Given the description of an element on the screen output the (x, y) to click on. 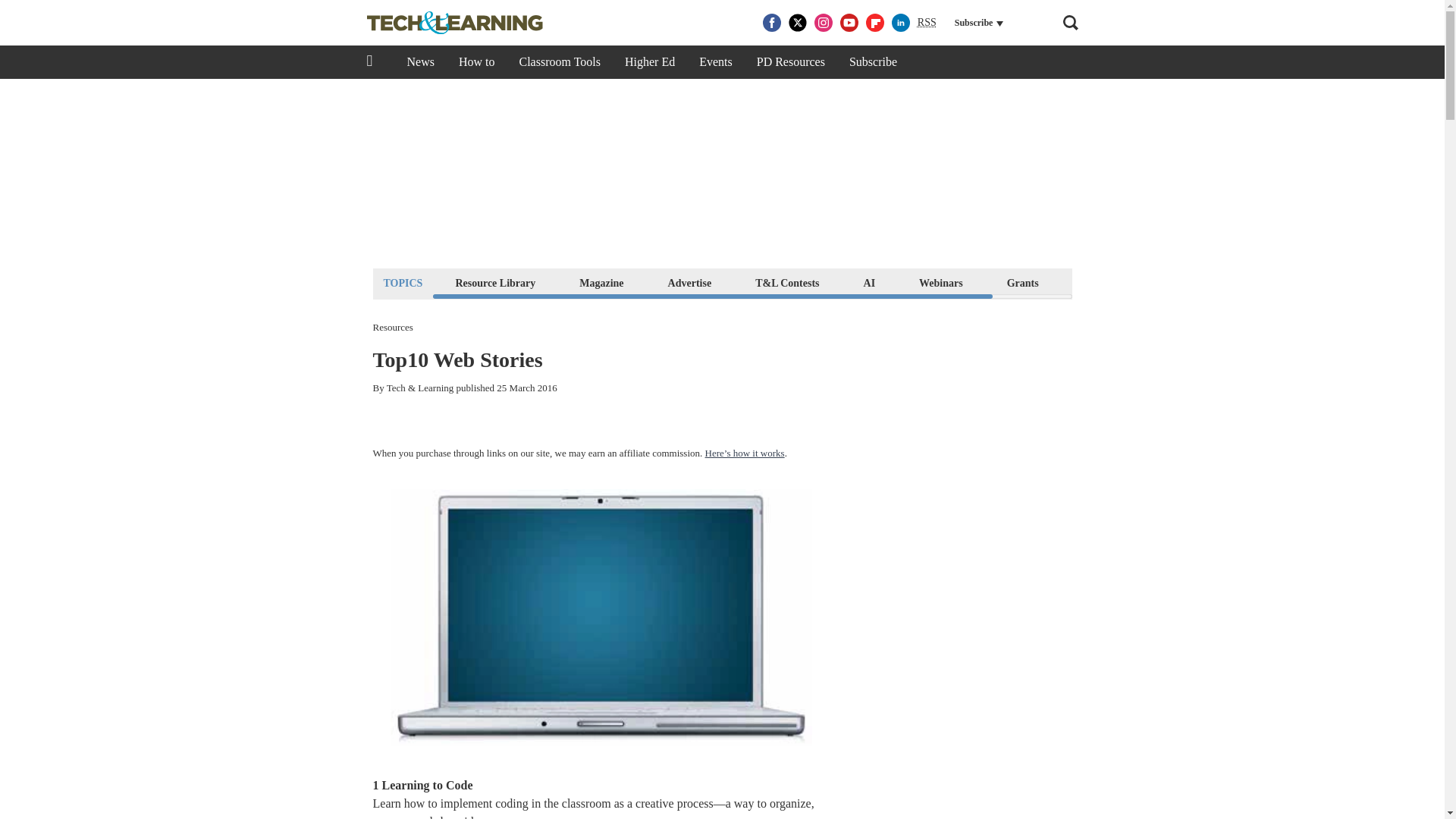
Advertise (689, 282)
Really Simple Syndication (926, 21)
Resource Library (494, 282)
How to (476, 61)
Grants (1022, 282)
Webinars (941, 282)
Learning to Code (427, 784)
Subscribe (872, 61)
Higher Ed (649, 61)
PD Resources (790, 61)
